Given the description of an element on the screen output the (x, y) to click on. 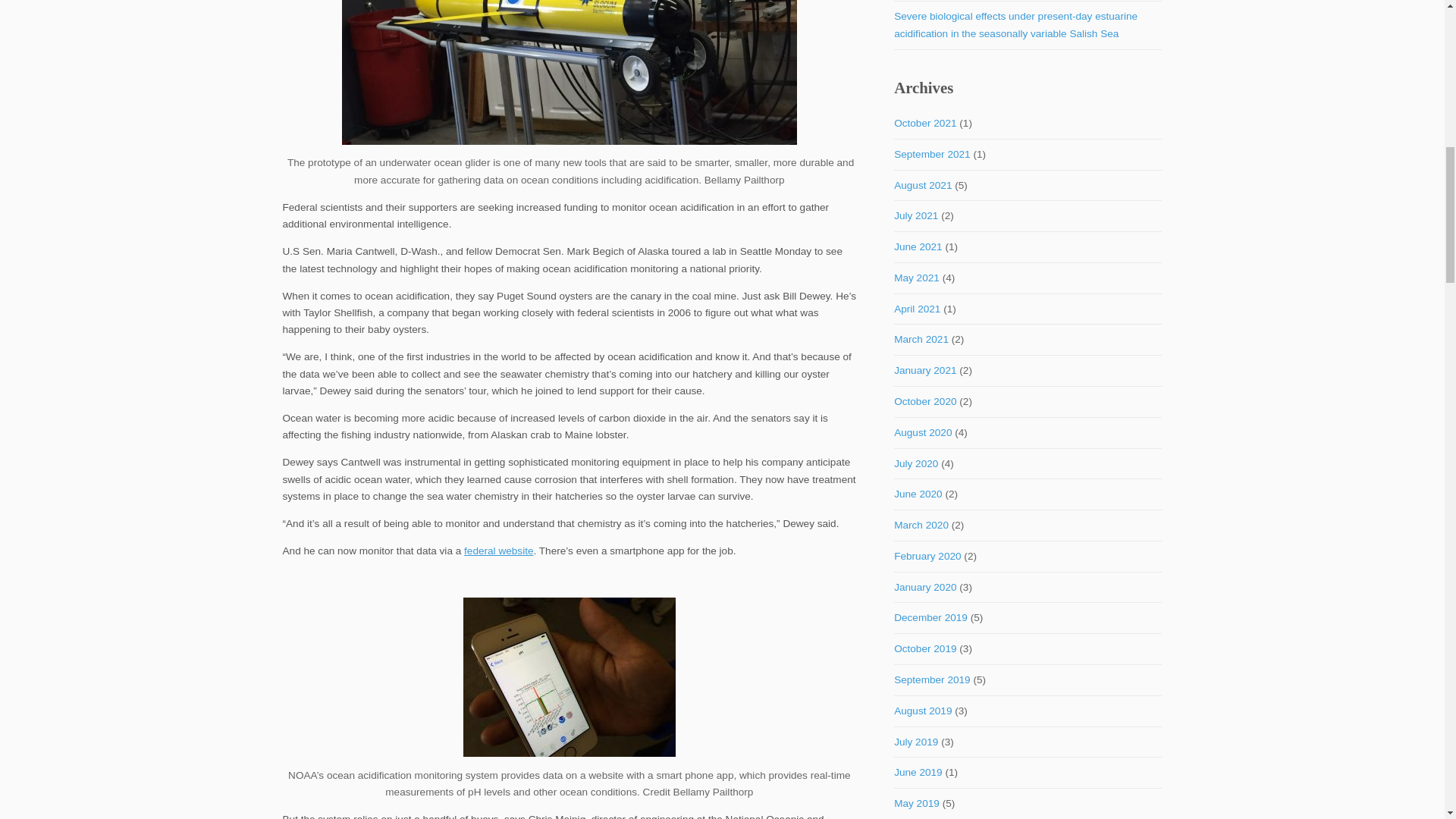
federal website (498, 550)
